Given the description of an element on the screen output the (x, y) to click on. 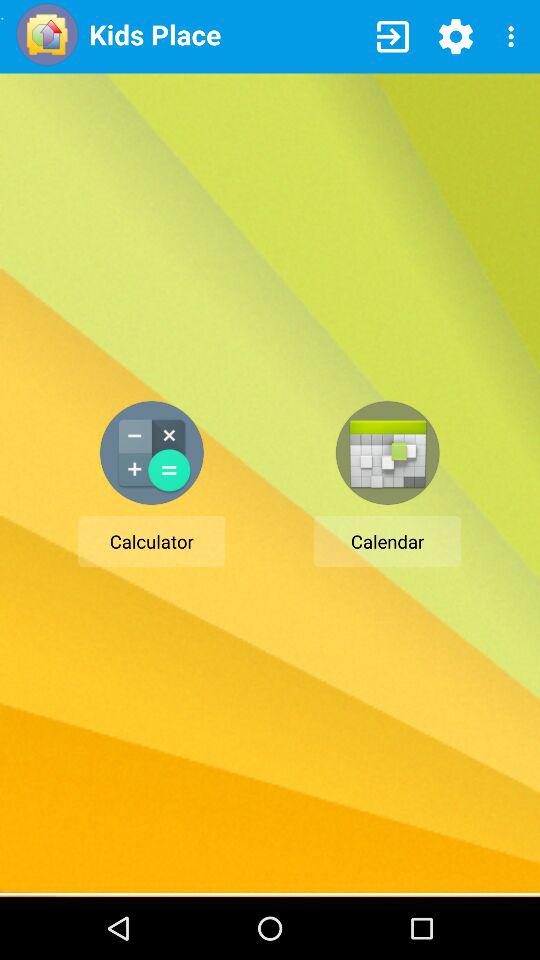
open the item next to kids place icon (392, 36)
